Given the description of an element on the screen output the (x, y) to click on. 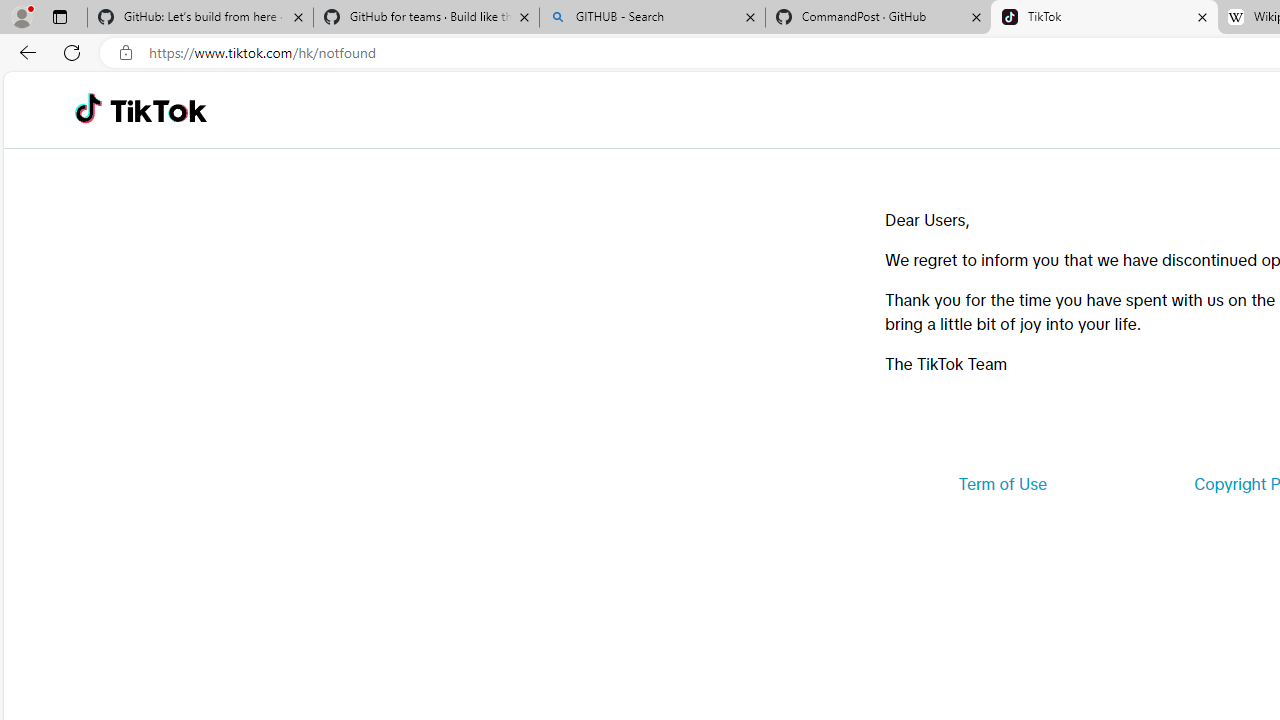
Term of Use (1002, 484)
GITHUB - Search (652, 17)
TikTok (1104, 17)
TikTok (158, 110)
